Given the description of an element on the screen output the (x, y) to click on. 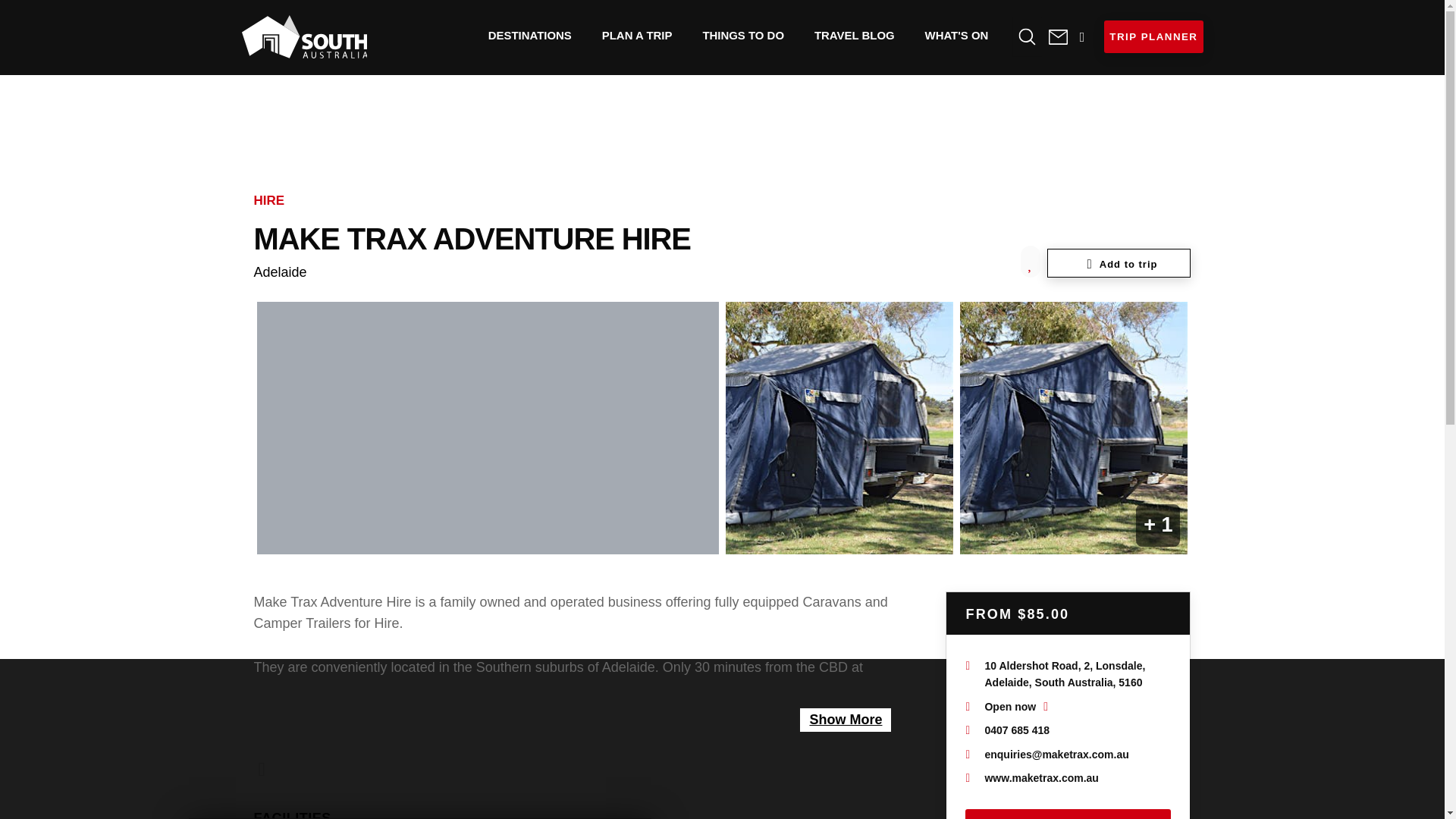
TRIP PLANNER (1152, 36)
Travel blog (854, 34)
THINGS TO DO (743, 34)
TRAVEL BLOG (854, 34)
What's on (957, 34)
WHAT'S ON (957, 34)
DESTINATIONS (529, 34)
Things to do (743, 34)
PLAN A TRIP (636, 34)
Destinations (529, 34)
